Given the description of an element on the screen output the (x, y) to click on. 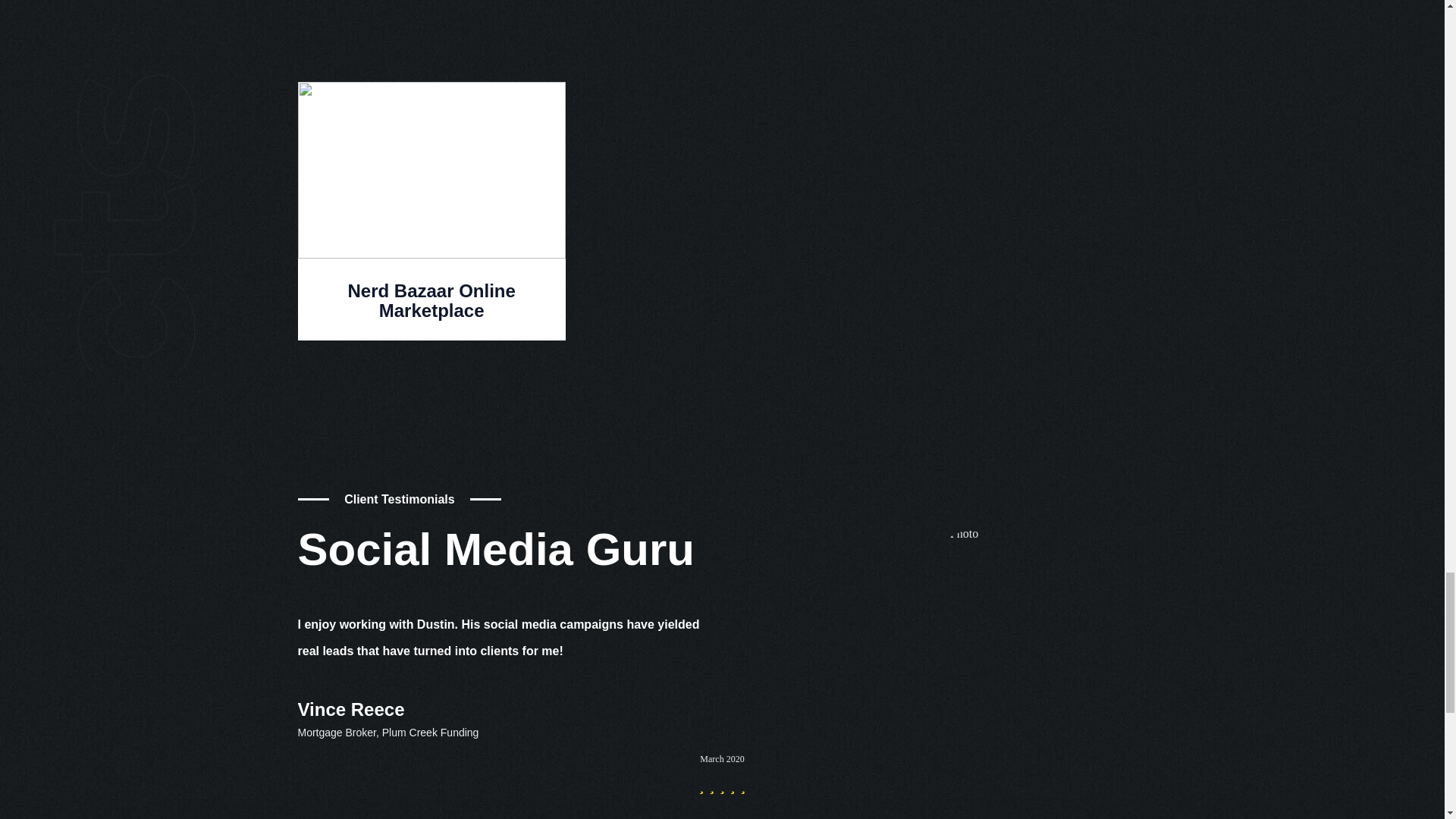
Nerd Bazaar Online Marketplace (431, 300)
